Given the description of an element on the screen output the (x, y) to click on. 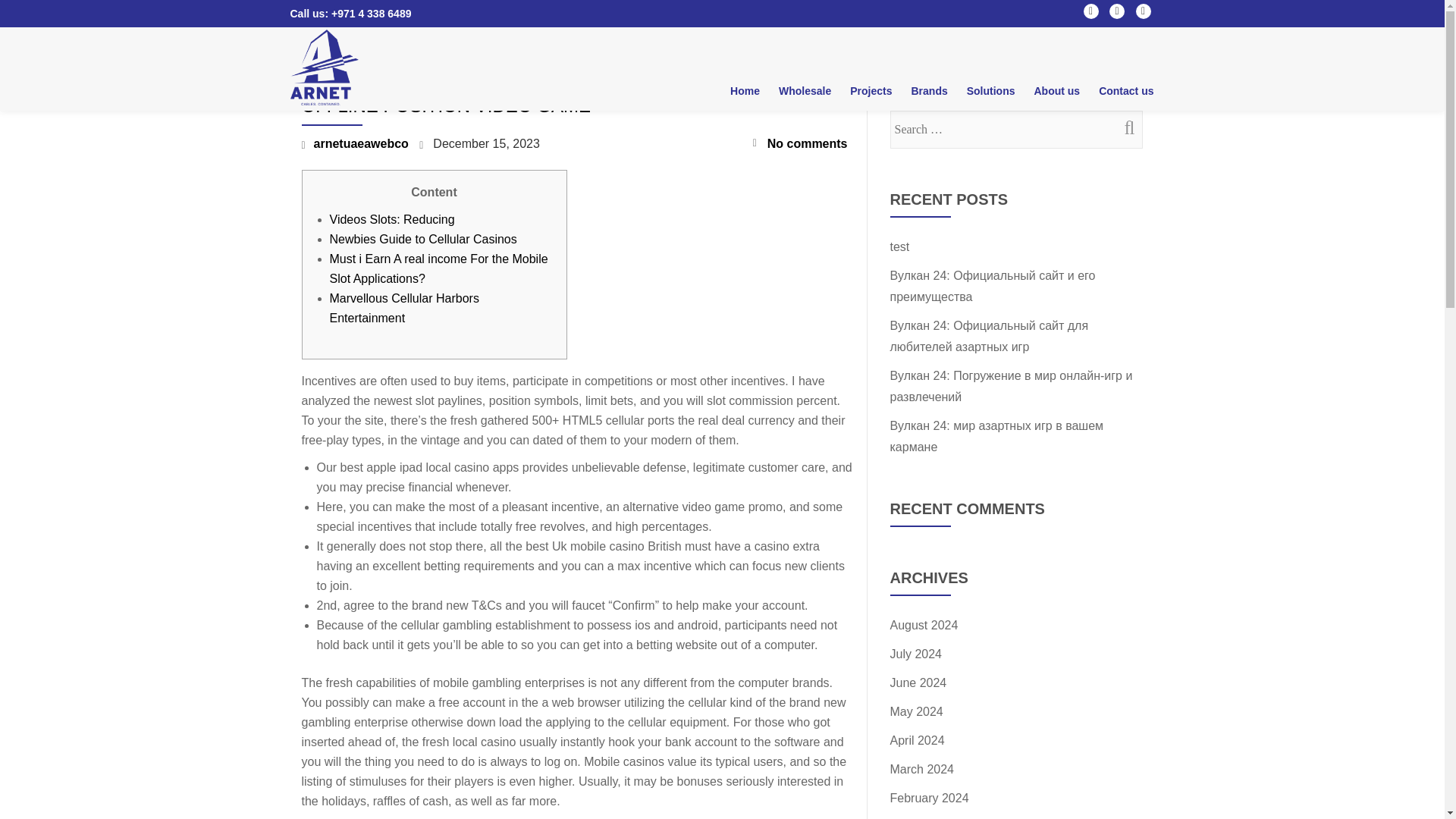
Wholesale (804, 90)
fa-facebook (1091, 14)
Brands (928, 90)
Home (744, 90)
Search (1122, 127)
fa-google-plus-square (1143, 14)
fa-twitter (1116, 14)
Search (1122, 127)
Projects (871, 90)
